Given the description of an element on the screen output the (x, y) to click on. 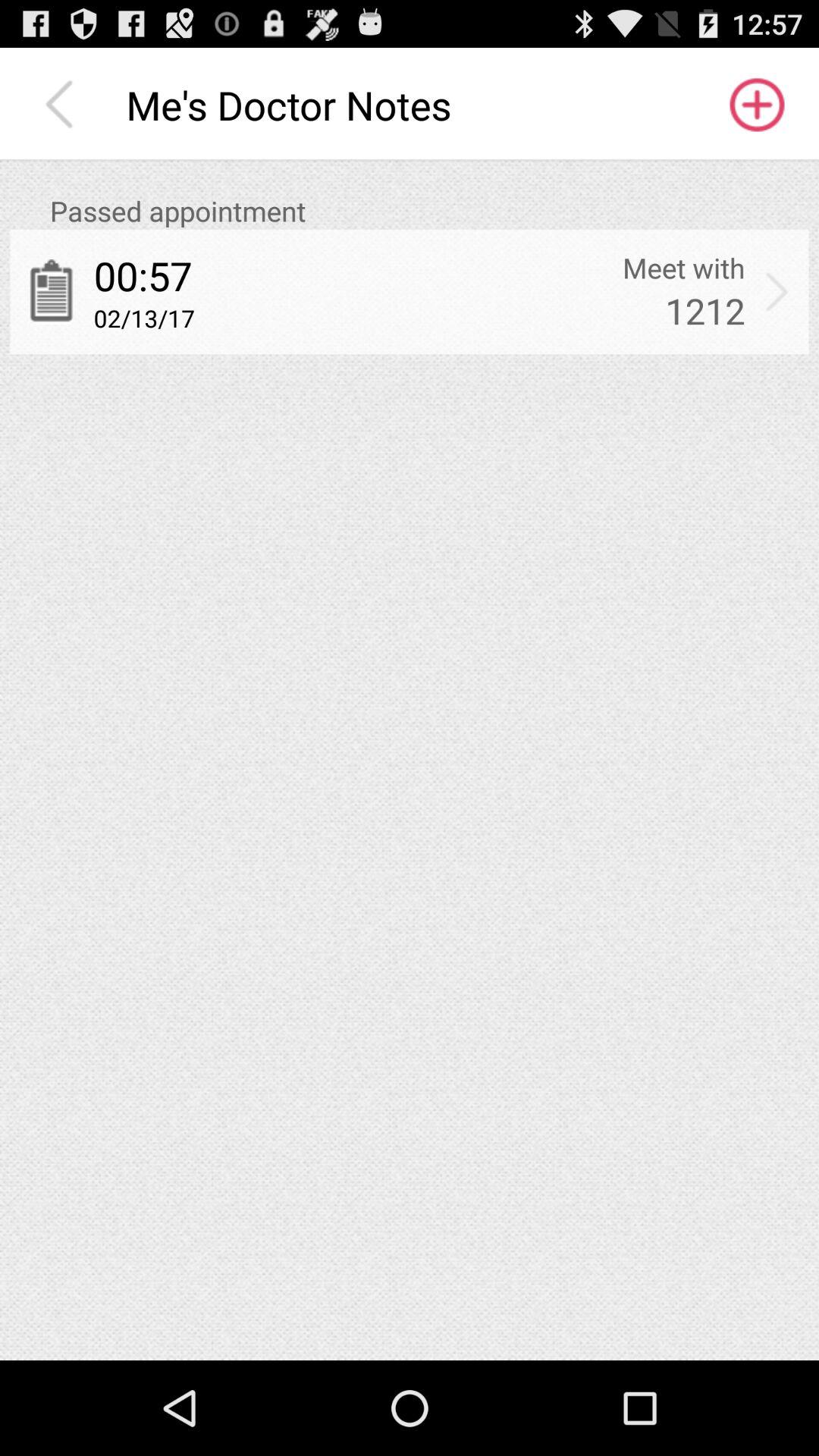
select app to the right of the meet with app (776, 291)
